Given the description of an element on the screen output the (x, y) to click on. 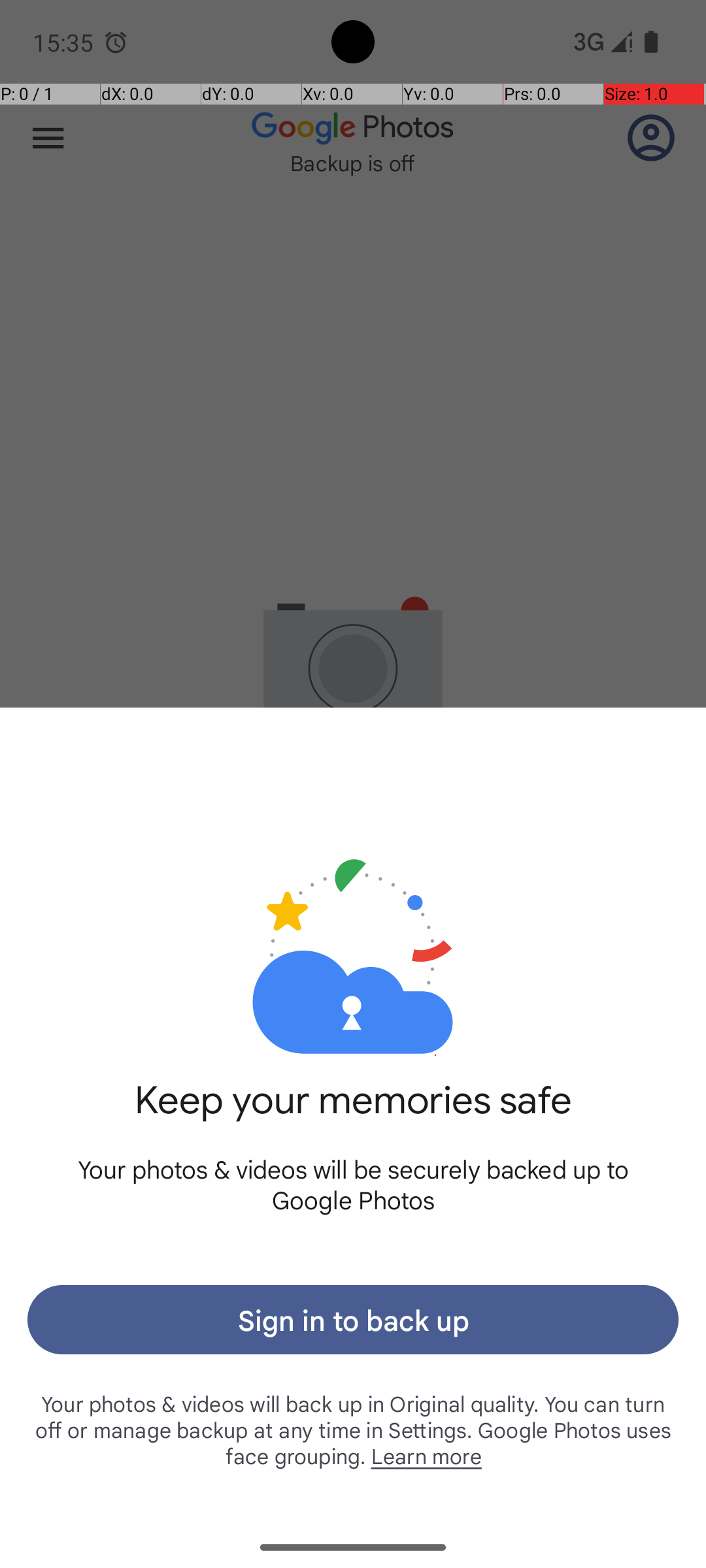
Photos and videos stored in a cloud Element type: android.widget.ImageView (352, 913)
Keep your memories safe Element type: android.widget.TextView (352, 1113)
Your photos & videos will be securely backed up to Google Photos Element type: android.widget.TextView (352, 1183)
Sign in to back up Element type: android.widget.Button (352, 1319)
Your photos & videos will back up in Original quality. You can turn off or manage backup at any time in Settings. Google Photos uses face grouping. Learn more Element type: android.widget.TextView (352, 1429)
